Given the description of an element on the screen output the (x, y) to click on. 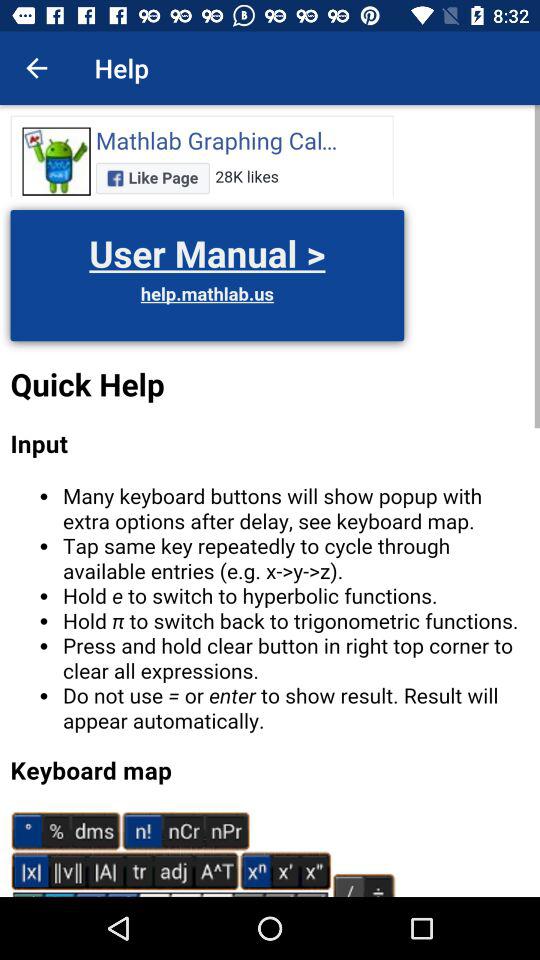
help body (270, 501)
